Given the description of an element on the screen output the (x, y) to click on. 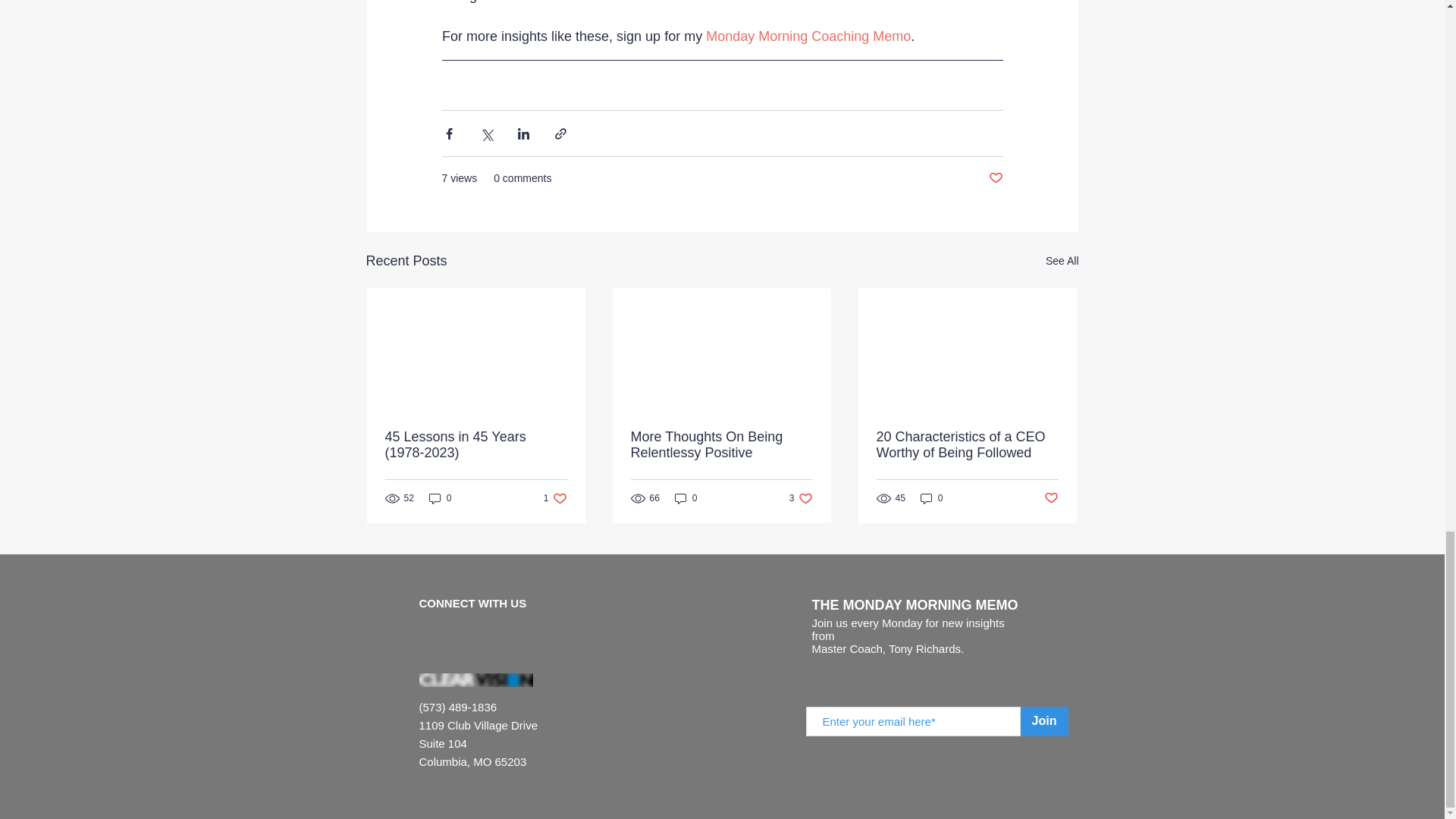
0 (440, 498)
0 (685, 498)
Join (1044, 721)
Monday Morning Coaching Memo (808, 36)
0 (931, 498)
See All (1061, 260)
20 Characteristics of a CEO Worthy of Being Followed (967, 445)
Post not marked as liked (555, 498)
More Thoughts On Being Relentlessy Positive (995, 178)
Post not marked as liked (721, 445)
